Given the description of an element on the screen output the (x, y) to click on. 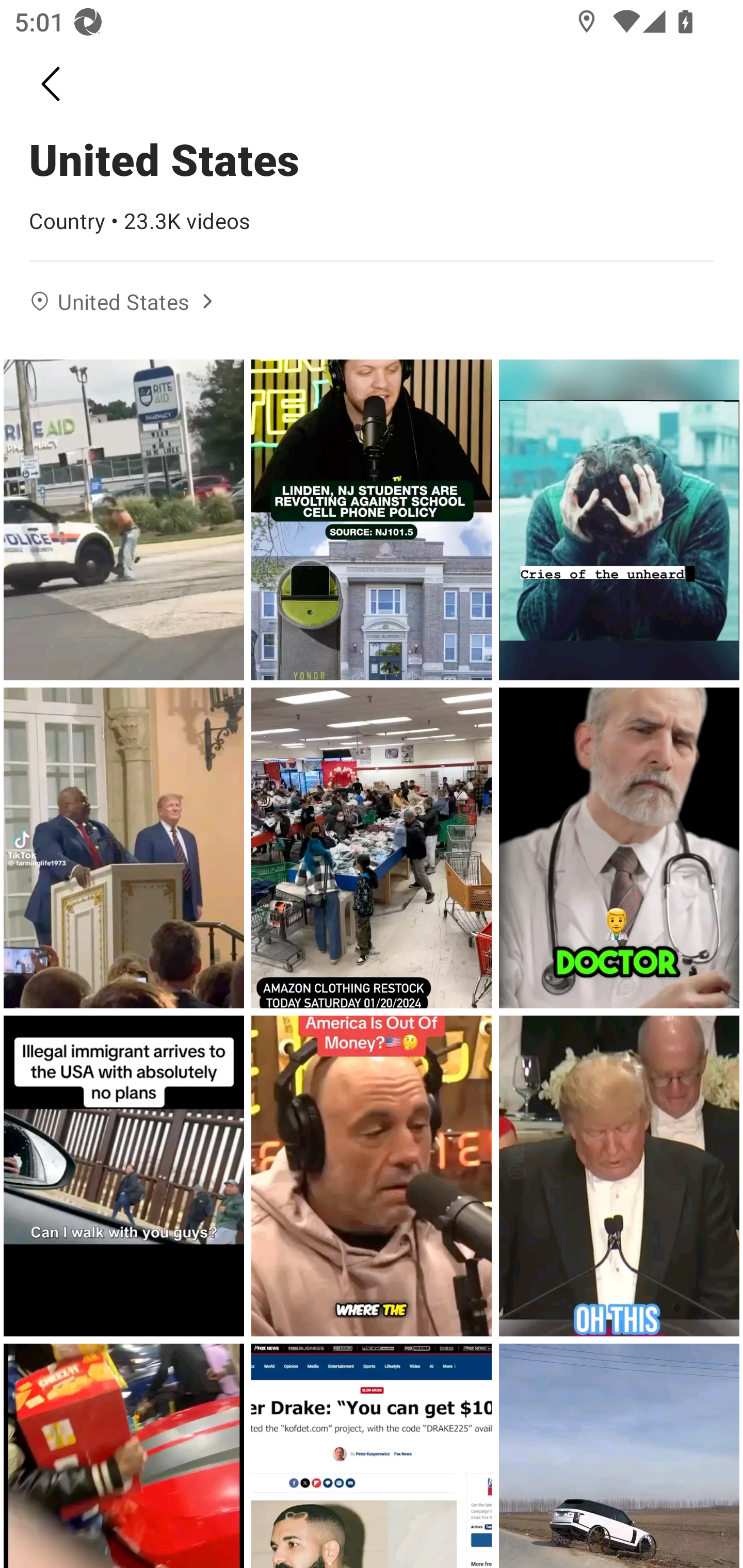
United States (123, 301)
